Given the description of an element on the screen output the (x, y) to click on. 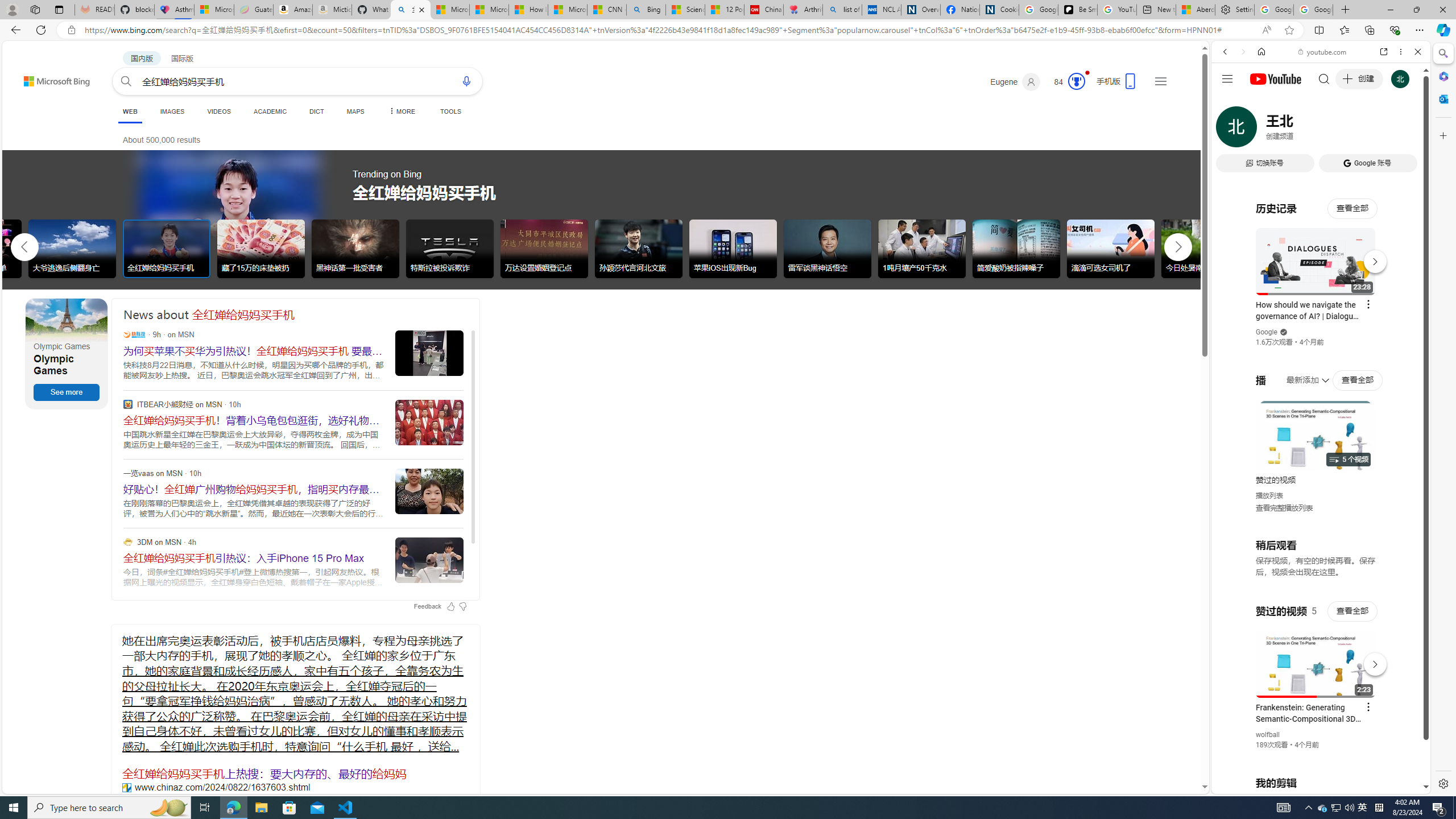
MORE (400, 111)
Global web icon (1232, 655)
AutomationID: mfa_root (1161, 752)
Click to scroll left (25, 246)
